Given the description of an element on the screen output the (x, y) to click on. 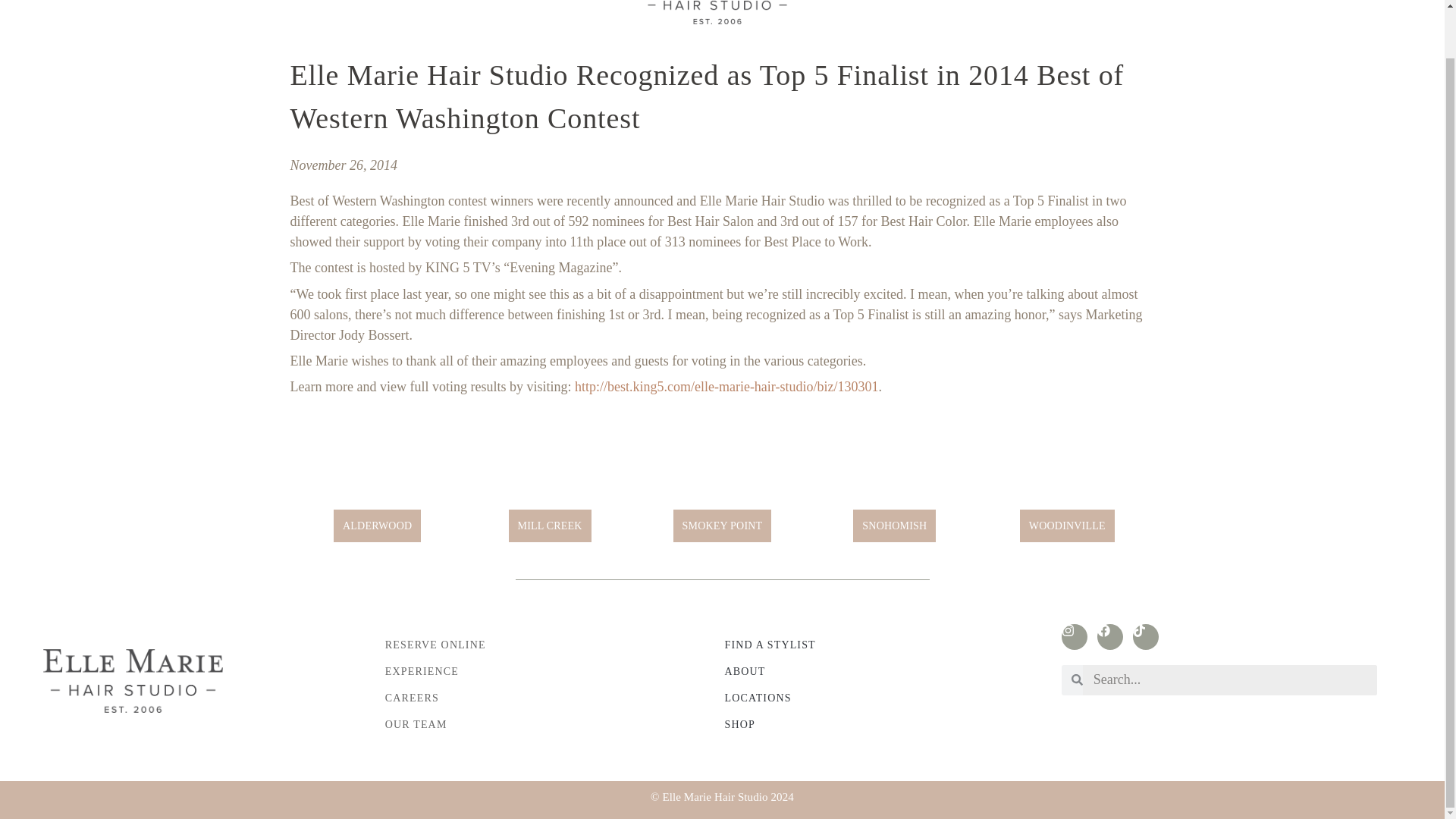
CAREERS (473, 7)
OUR TEAM (544, 7)
RESERVE ONLINE (297, 7)
EXPERIENCE (396, 7)
